Given the description of an element on the screen output the (x, y) to click on. 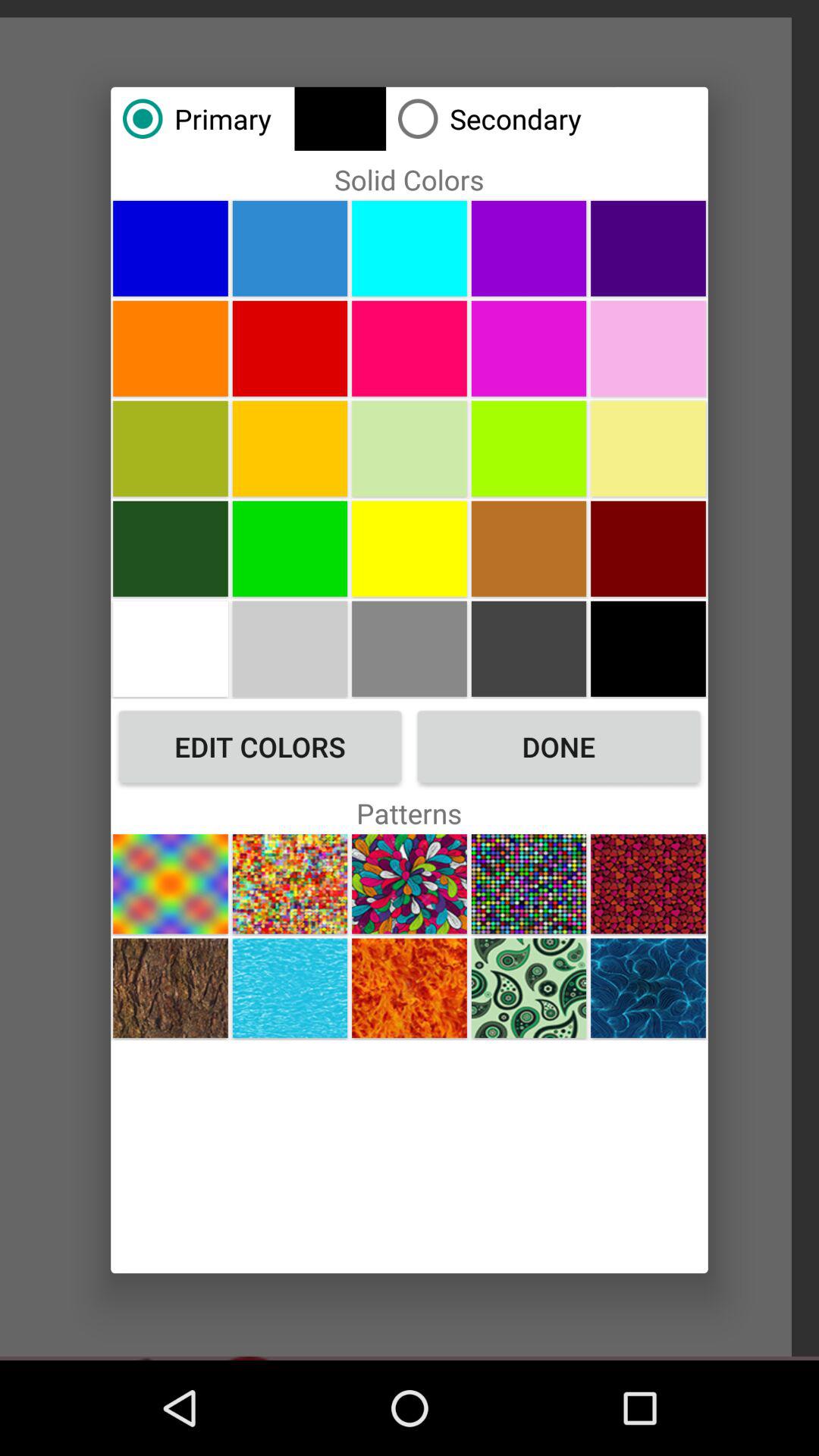
select color (409, 548)
